Given the description of an element on the screen output the (x, y) to click on. 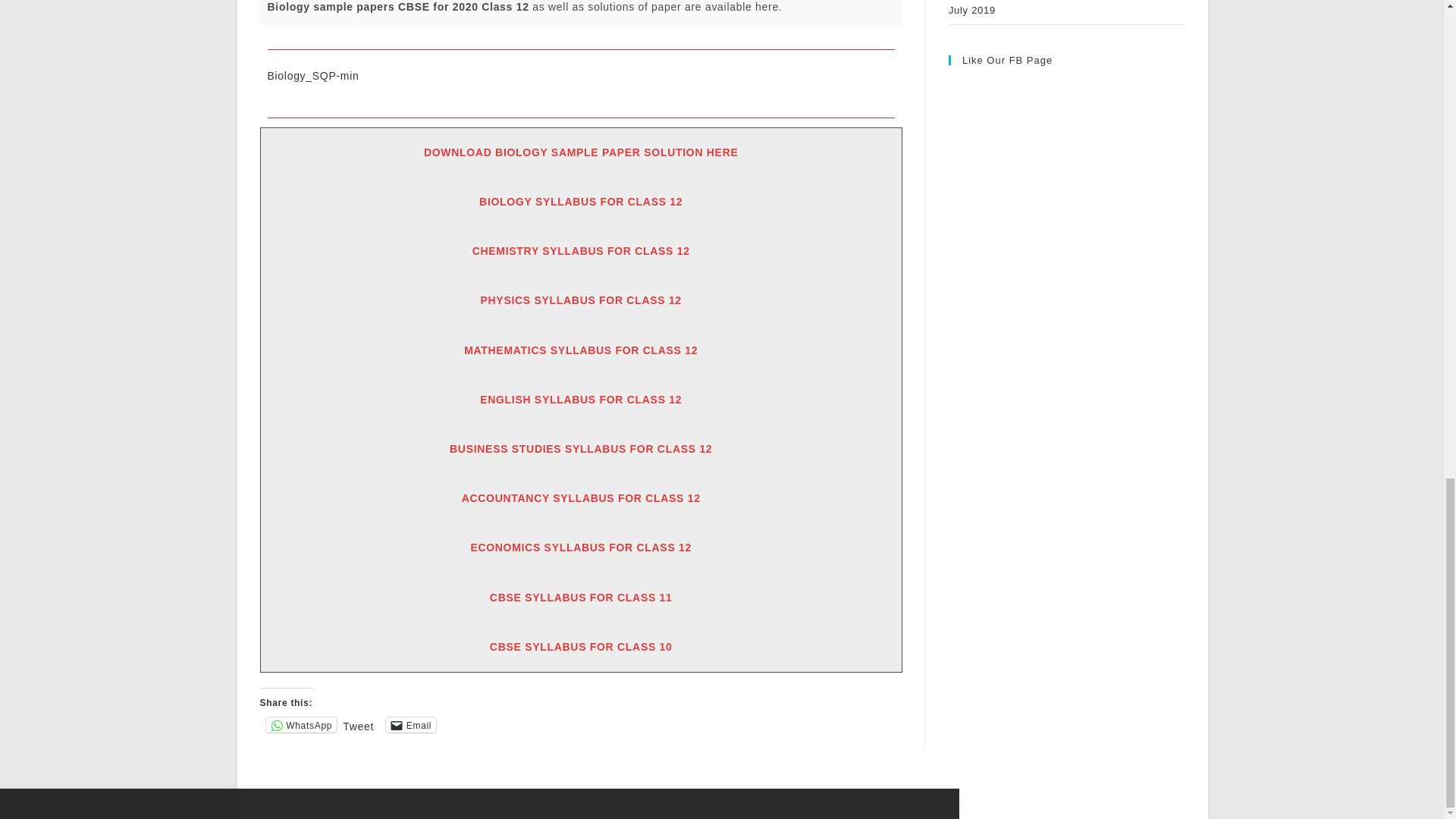
Click to email a link to a friend (410, 724)
Click to share on WhatsApp (300, 724)
